Given the description of an element on the screen output the (x, y) to click on. 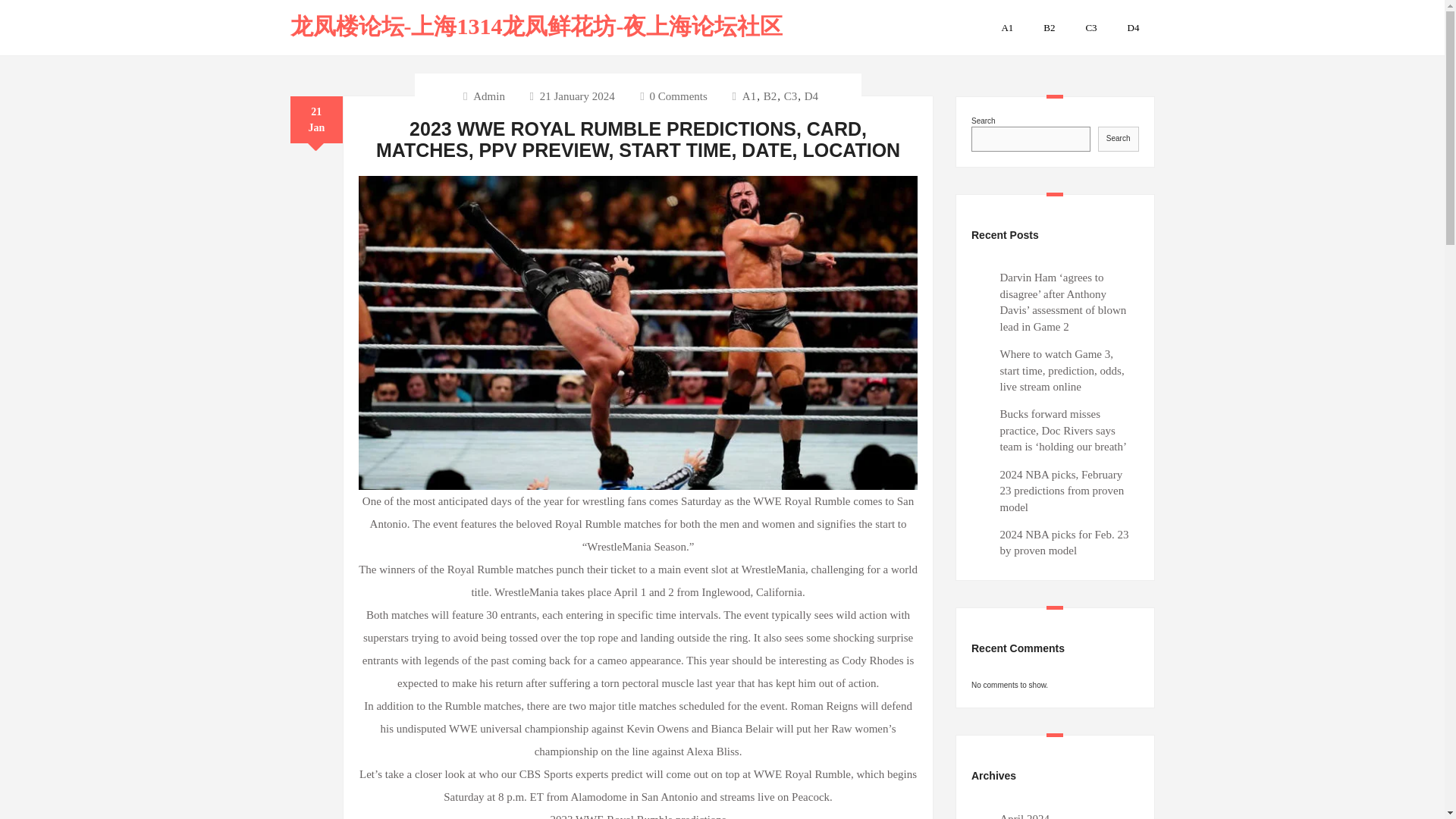
A1 (749, 96)
B2 (769, 96)
B2 (1048, 27)
2024 NBA picks, February 23 predictions from proven model (1061, 490)
Admin (488, 96)
21 January 2024 (576, 96)
0 Comments (673, 96)
D4 (1133, 27)
D4 (810, 96)
Posts by admin (488, 96)
Search (1117, 138)
2024 NBA picks for Feb. 23 by proven model (1063, 542)
C3 (1091, 27)
April 2024 (1023, 816)
